Given the description of an element on the screen output the (x, y) to click on. 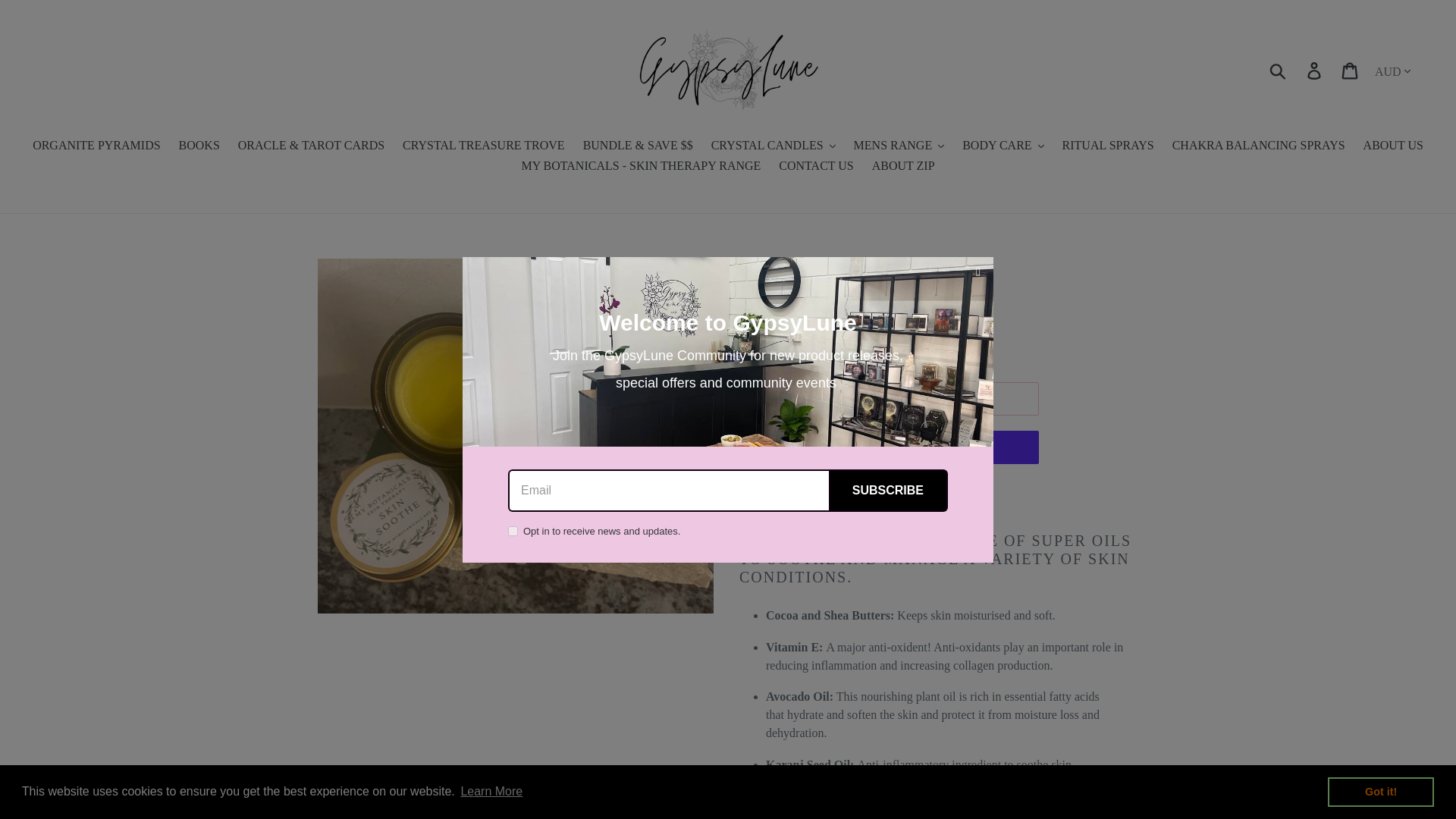
Learn More (491, 791)
Cart (1350, 69)
Submit (1278, 69)
Got it! (1380, 791)
Log in (1315, 69)
